Given the description of an element on the screen output the (x, y) to click on. 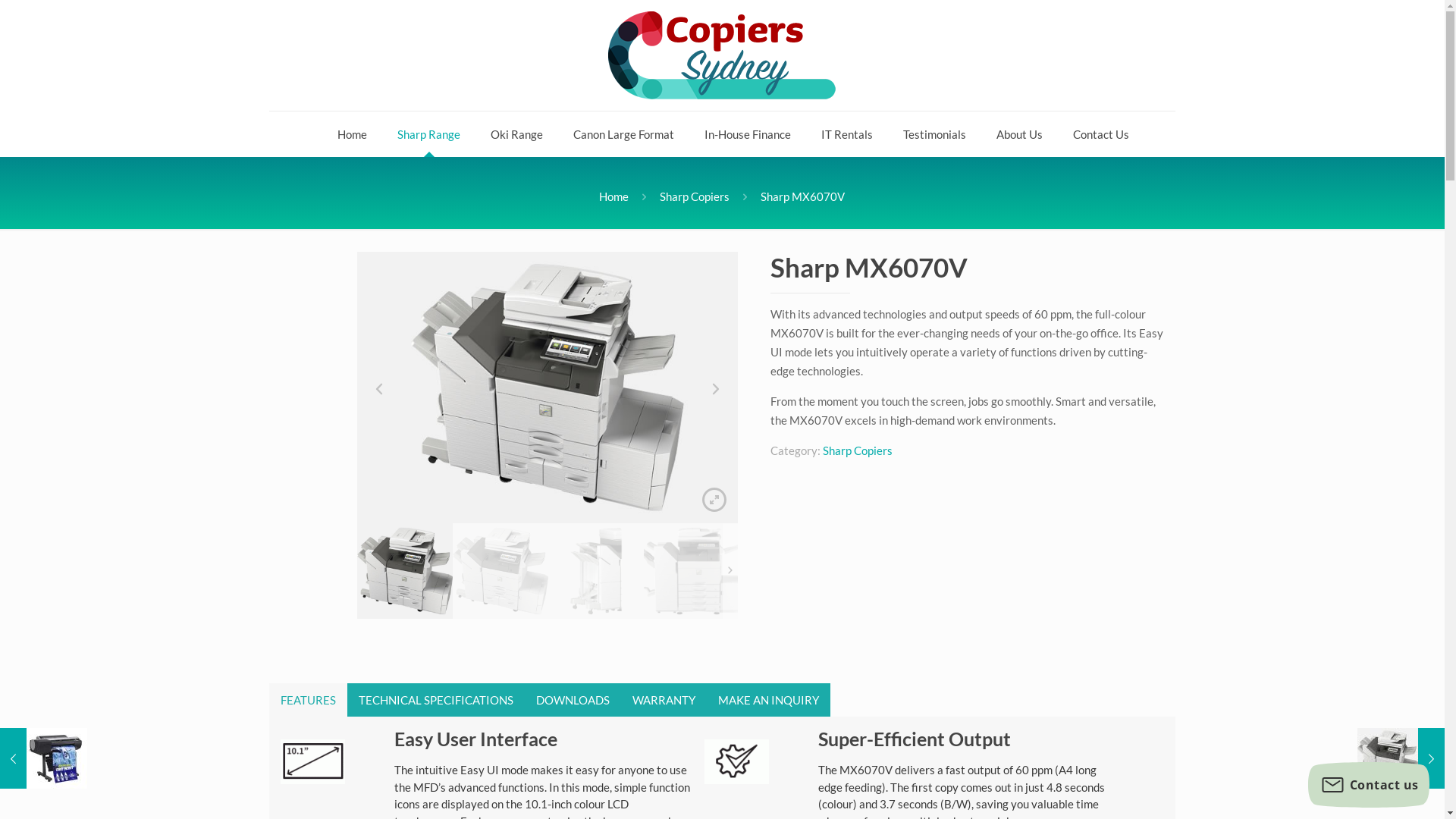
MX6070V-01 Element type: hover (404, 570)
IT Rentals Element type: text (847, 133)
About Us Element type: text (1019, 133)
Home Element type: text (352, 133)
MX6070V-01 Element type: hover (547, 387)
Sharp Range Element type: text (428, 133)
Canon Large Format Element type: text (623, 133)
MAKE AN INQUIRY Element type: text (768, 700)
Sharp Copiers Element type: text (694, 196)
MX6070V-03 Element type: hover (691, 570)
DOWNLOADS Element type: text (572, 700)
Contact us Element type: text (1368, 784)
MX5070V-08 Element type: hover (595, 570)
Contact Us Element type: text (1100, 133)
Oki Range Element type: text (516, 133)
MX6070V-01 Element type: hover (500, 570)
Testimonials Element type: text (934, 133)
In-House Finance Element type: text (747, 133)
FEATURES Element type: text (308, 700)
Sharp Copiers Element type: text (857, 450)
TECHNICAL SPECIFICATIONS Element type: text (435, 700)
WARRANTY Element type: text (663, 700)
Home Element type: text (613, 196)
